Given the description of an element on the screen output the (x, y) to click on. 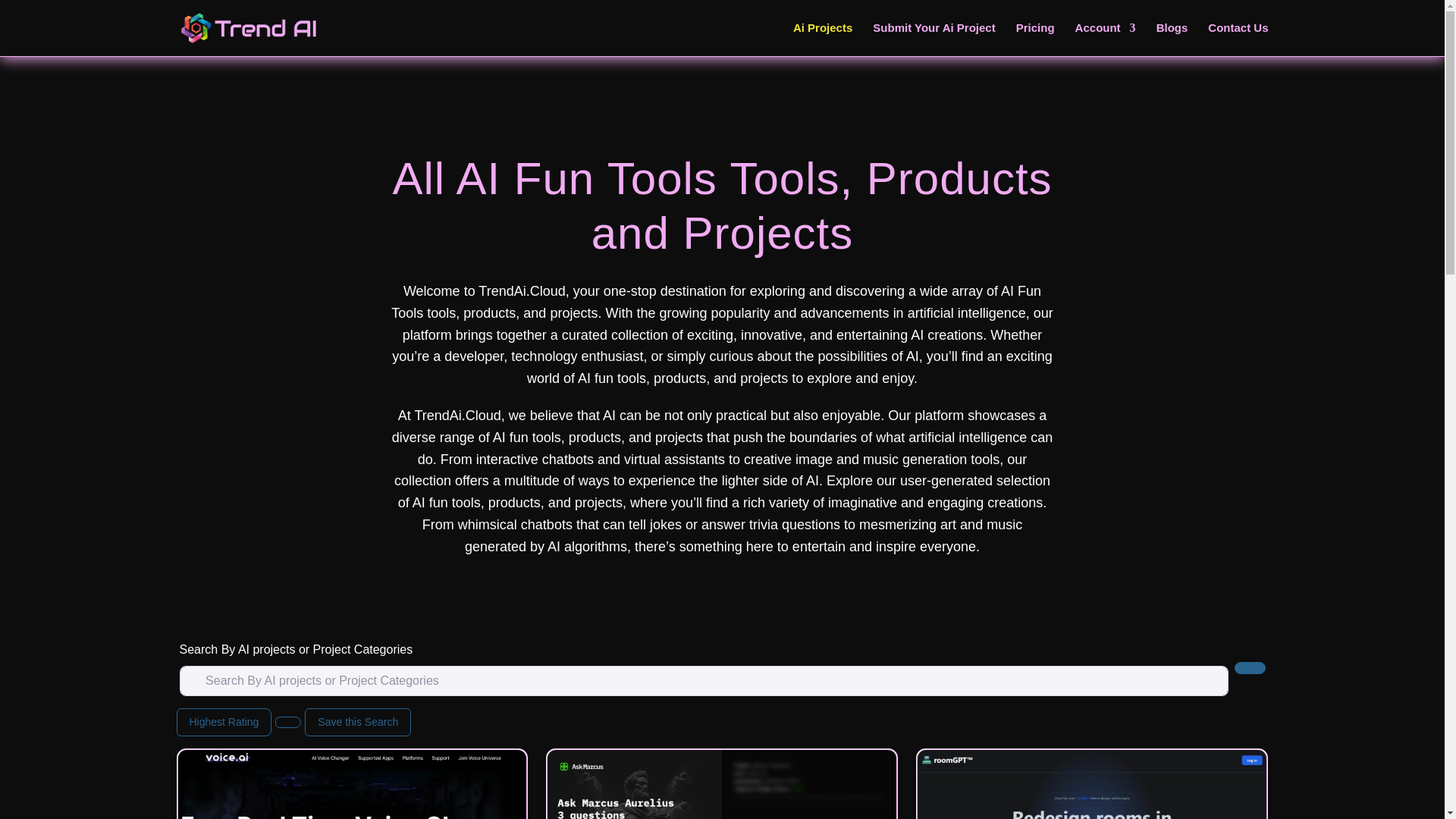
Account (1105, 39)
Search (1249, 667)
Highest Rating (223, 722)
Blogs (1172, 39)
Submit Your Ai Project (933, 39)
Contact Us (1238, 39)
Save this Search (357, 722)
Pricing (1035, 39)
Ai Projects (822, 39)
